Given the description of an element on the screen output the (x, y) to click on. 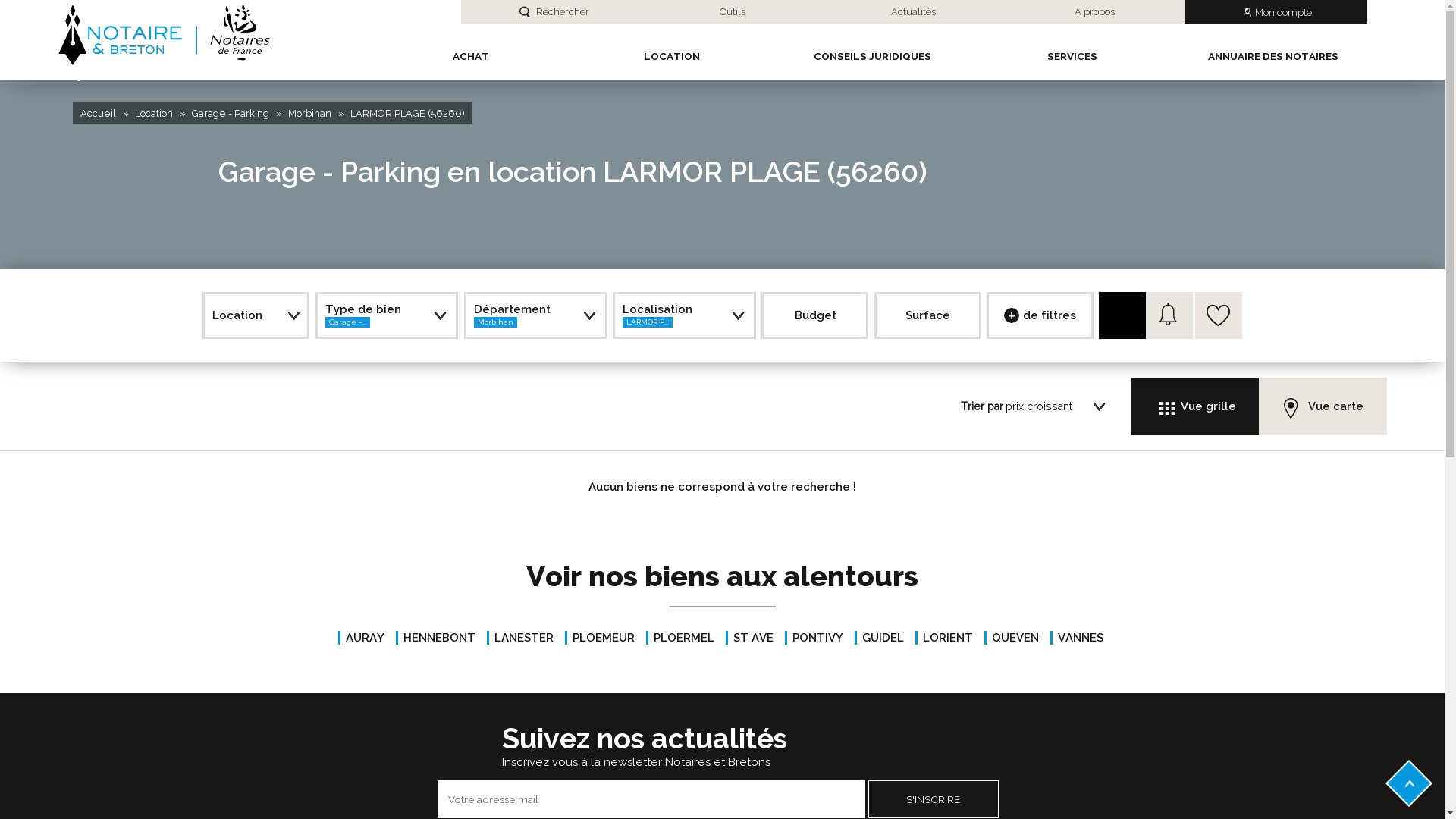
Rechercher Element type: text (1122, 315)
GUIDEL Element type: text (878, 637)
CONSEILS JURIDIQUES Element type: text (872, 60)
Outils Element type: text (732, 11)
Garage - Parking Element type: text (230, 113)
Location Element type: text (153, 113)
PONTIVY Element type: text (813, 637)
VANNES Element type: text (1075, 637)
ANNUAIRE DES NOTAIRES Element type: text (1273, 60)
PLOEMEUR Element type: text (598, 637)
Morbihan Element type: text (309, 113)
LARMOR PLAGE (56260) Element type: text (407, 113)
PLOERMEL Element type: text (680, 637)
LANESTER Element type: text (519, 637)
QUEVEN Element type: text (1011, 637)
ACHAT Element type: text (470, 60)
LOCATION Element type: text (671, 60)
ST AVE Element type: text (748, 637)
SERVICES Element type: text (1072, 60)
Mon compte Element type: text (1275, 11)
Rechercher Element type: text (551, 11)
AURAY Element type: text (361, 637)
LORIENT Element type: text (943, 637)
HENNEBONT Element type: text (435, 637)
S'inscrire Element type: text (932, 799)
Accueil Element type: text (98, 113)
A propos Element type: text (1094, 11)
